Given the description of an element on the screen output the (x, y) to click on. 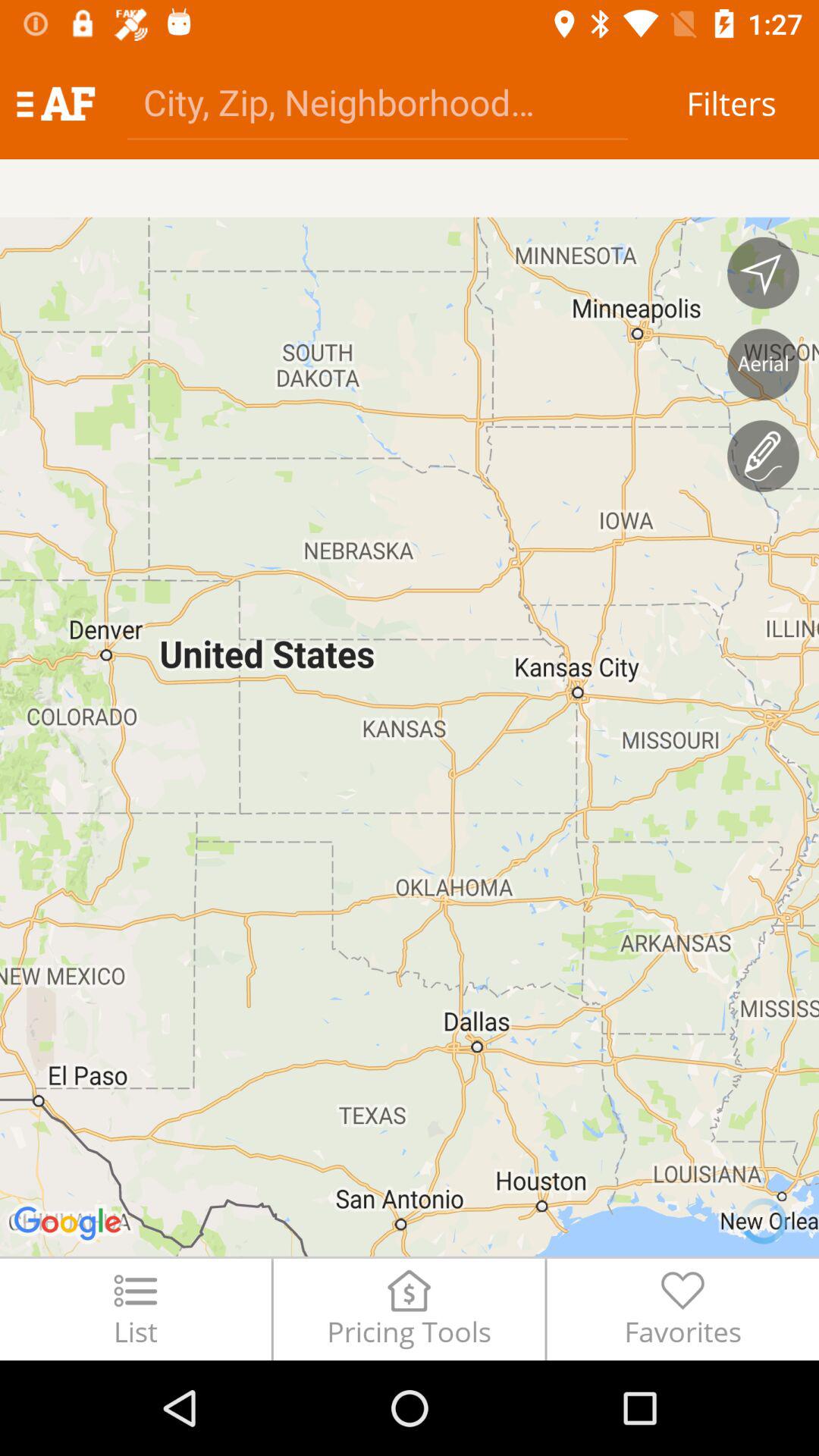
tap the item to the right of pricing tools icon (683, 1309)
